Given the description of an element on the screen output the (x, y) to click on. 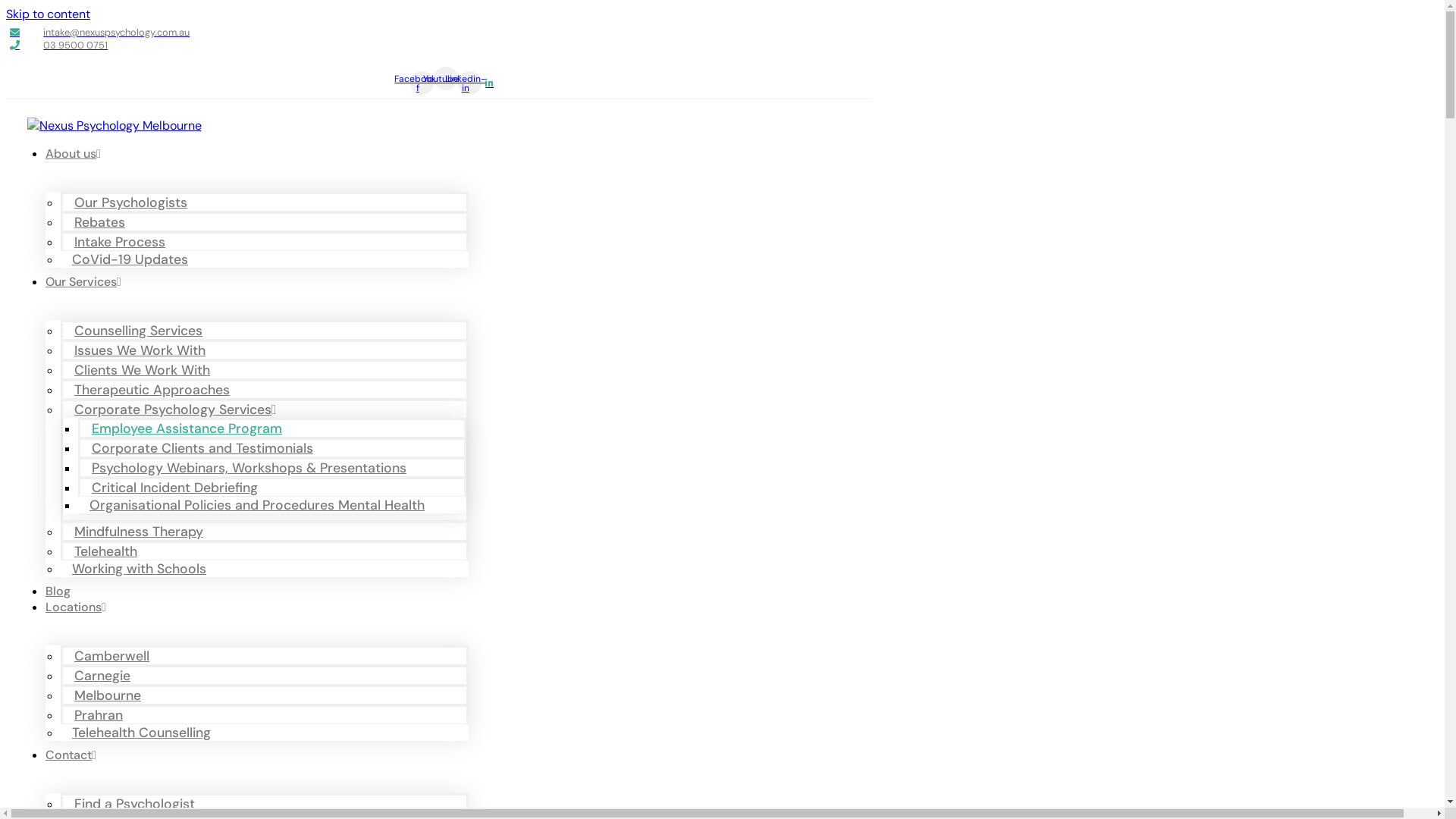
Melbourne Element type: text (111, 695)
Linkedin-in Element type: text (469, 82)
Carnegie Element type: text (105, 675)
Our Psychologists Element type: text (134, 202)
CoVid-19 Updates Element type: text (133, 259)
Locations Element type: text (75, 607)
Telehealth Element type: text (109, 551)
Rebates Element type: text (103, 222)
Corporate Psychology Services Element type: text (178, 409)
Psychology Webinars, Workshops & Presentations Element type: text (252, 467)
Skip to content Element type: text (48, 13)
Working with Schools Element type: text (142, 568)
About us Element type: text (72, 153)
Our Services Element type: text (83, 281)
Issues We Work With Element type: text (143, 350)
Corporate Clients and Testimonials Element type: text (206, 448)
03 9500 0751 Element type: text (437, 44)
Prahran Element type: text (101, 715)
Critical Incident Debriefing Element type: text (178, 487)
Counselling Services Element type: text (141, 330)
Employee Assistance Program Element type: text (190, 428)
Intake Process Element type: text (123, 241)
intake@nexuspsychology.com.au Element type: text (437, 31)
Facebook-f Element type: text (421, 82)
Youtube Element type: text (445, 78)
Blog Element type: text (57, 591)
Camberwell Element type: text (115, 655)
Telehealth Counselling Element type: text (144, 732)
Contact Element type: text (70, 754)
Clients We Work With Element type: text (145, 369)
Mindfulness Therapy Element type: text (142, 531)
Therapeutic Approaches Element type: text (155, 389)
Organisational Policies and Procedures Mental Health Element type: text (260, 504)
